Given the description of an element on the screen output the (x, y) to click on. 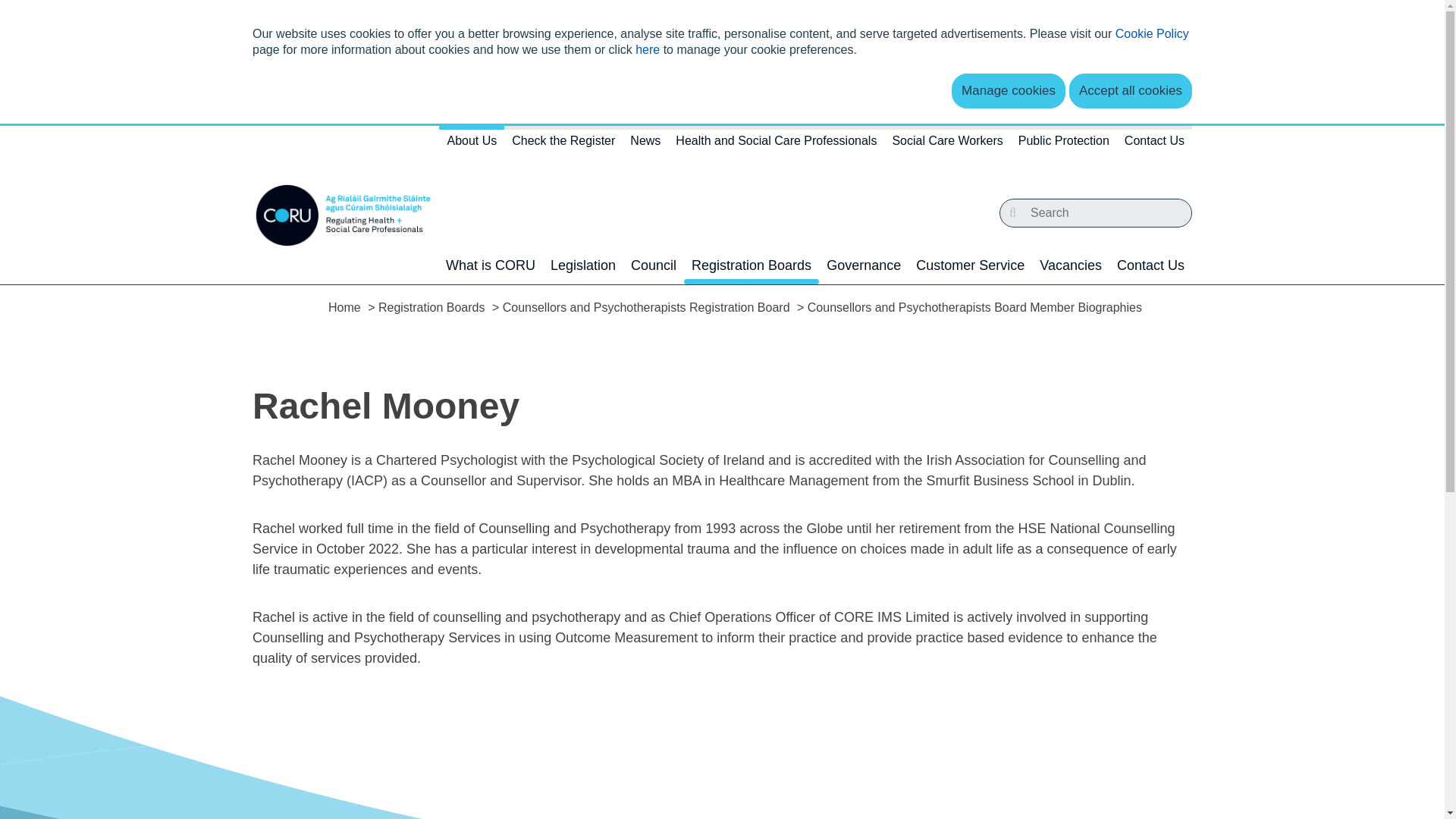
Health and Social Care Professionals (775, 146)
Legislation (583, 265)
What is CORU (490, 265)
here (646, 49)
News (645, 146)
Contact Us (1154, 146)
Cookie Policy (1152, 33)
Public Protection (1063, 146)
search button (1012, 213)
Council (653, 265)
